Given the description of an element on the screen output the (x, y) to click on. 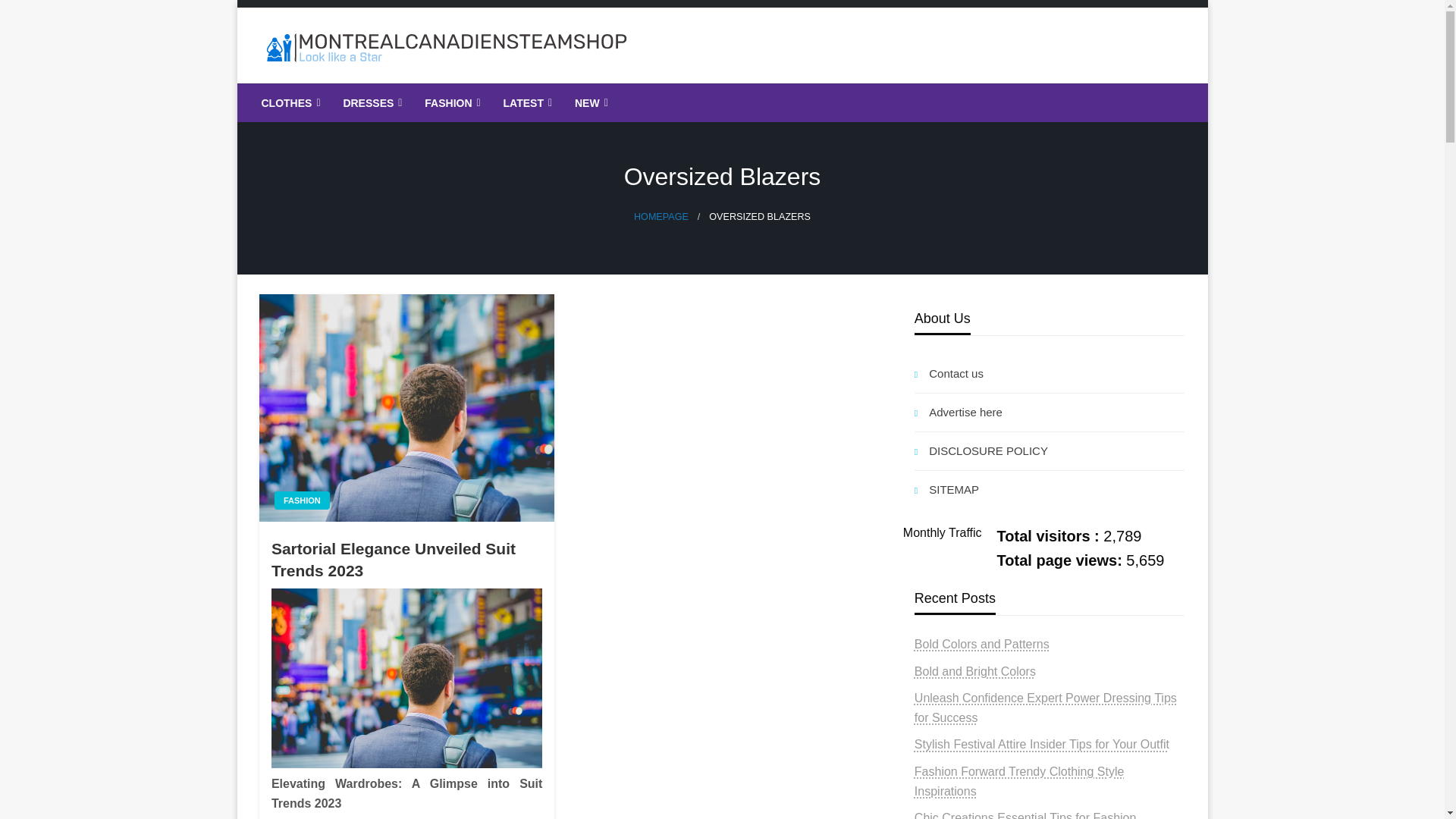
FASHION (302, 500)
NEW (589, 103)
DISCLOSURE POLICY (1049, 450)
Sartorial Elegance Unveiled Suit Trends 2023 (405, 559)
Advertise here (1049, 412)
CLOTHES (289, 103)
DRESSES (371, 103)
Contact us (1049, 373)
FASHION (450, 103)
Homepage (660, 216)
HOMEPAGE (660, 216)
LATEST (526, 103)
MONTREALCANADIENSTEAMSHOP (520, 95)
